Given the description of an element on the screen output the (x, y) to click on. 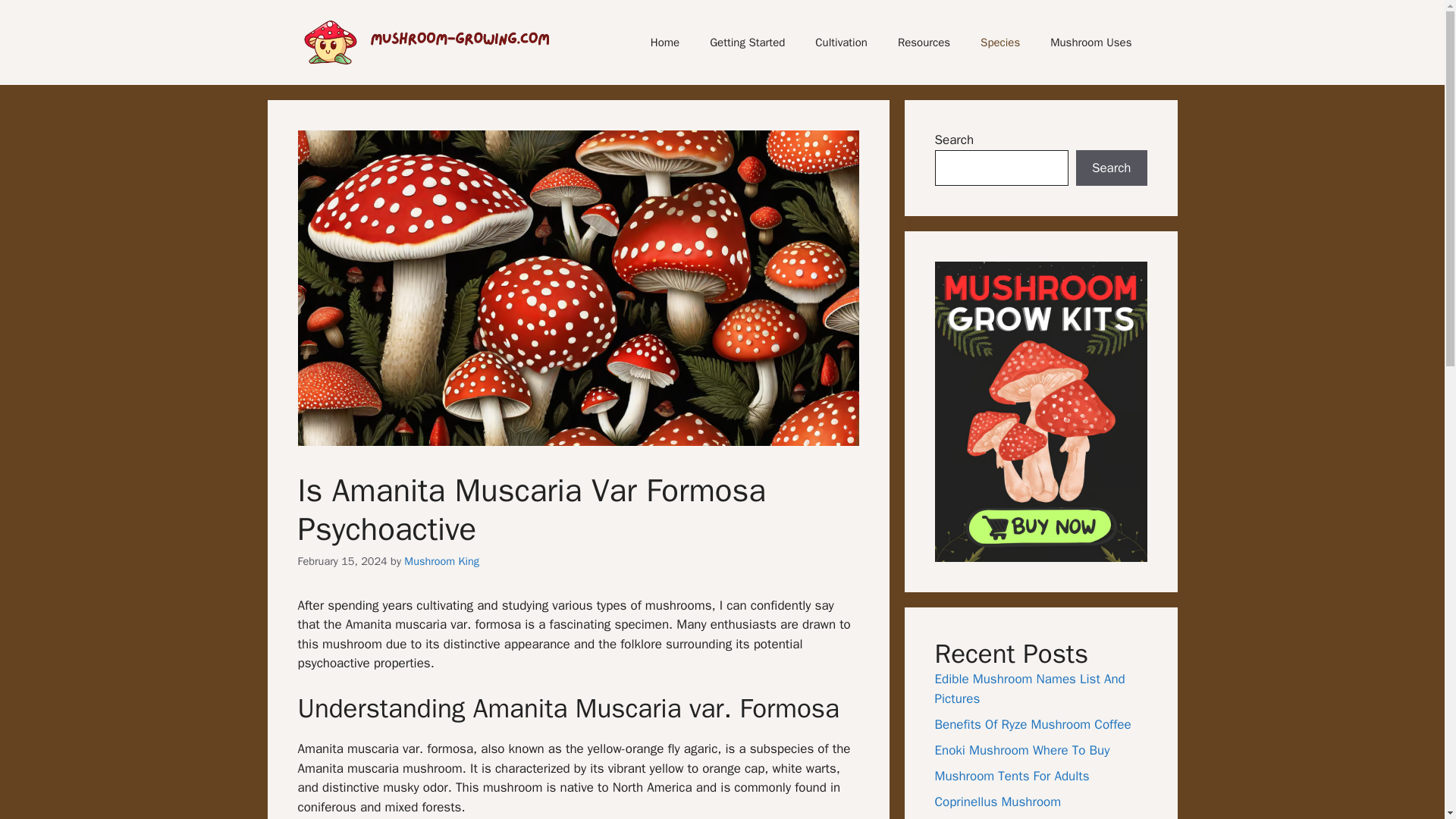
Species (1000, 42)
Mushroom Uses (1091, 42)
Mushroom King (441, 561)
Home (664, 42)
Cultivation (840, 42)
Benefits Of Ryze Mushroom Coffee (1032, 724)
Mushroom Tents For Adults (1011, 775)
Getting Started (746, 42)
View all posts by Mushroom King (441, 561)
Enoki Mushroom Where To Buy (1021, 750)
